Given the description of an element on the screen output the (x, y) to click on. 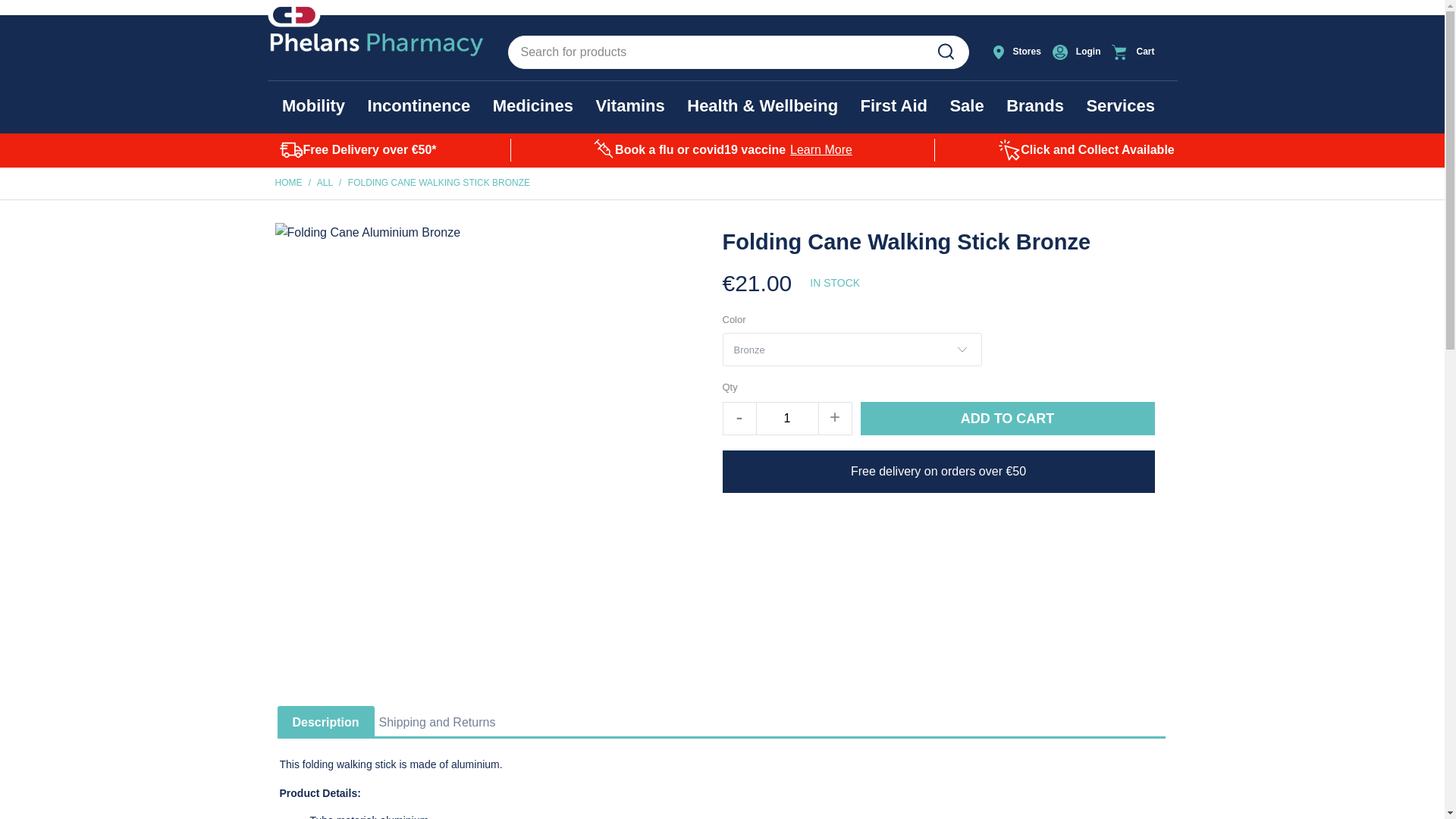
Cart (1140, 52)
Incontinence (419, 105)
Stores (1017, 52)
Phelan's Pharmacy (288, 182)
76F589C6-0E18-4499-82DD-1BC7DC7F63B1 (945, 51)
Login (1078, 52)
Medicines (533, 105)
1 (786, 418)
Mobility (313, 105)
All (325, 182)
